Given the description of an element on the screen output the (x, y) to click on. 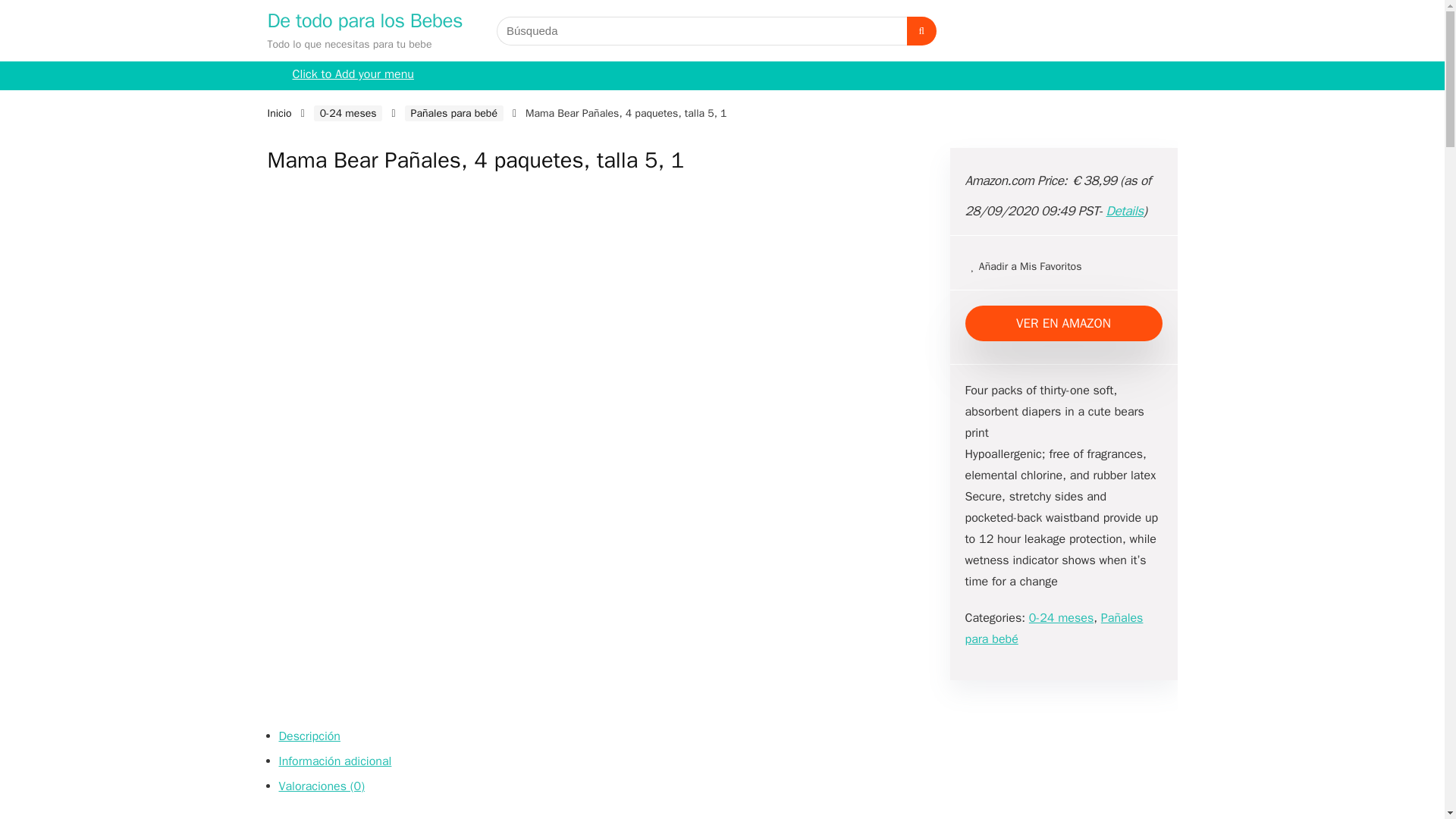
Details (1124, 210)
0-24 meses (348, 113)
Click to Add your menu (352, 75)
0-24 meses (1061, 617)
Inicio (278, 113)
VER EN AMAZON (1062, 323)
